Given the description of an element on the screen output the (x, y) to click on. 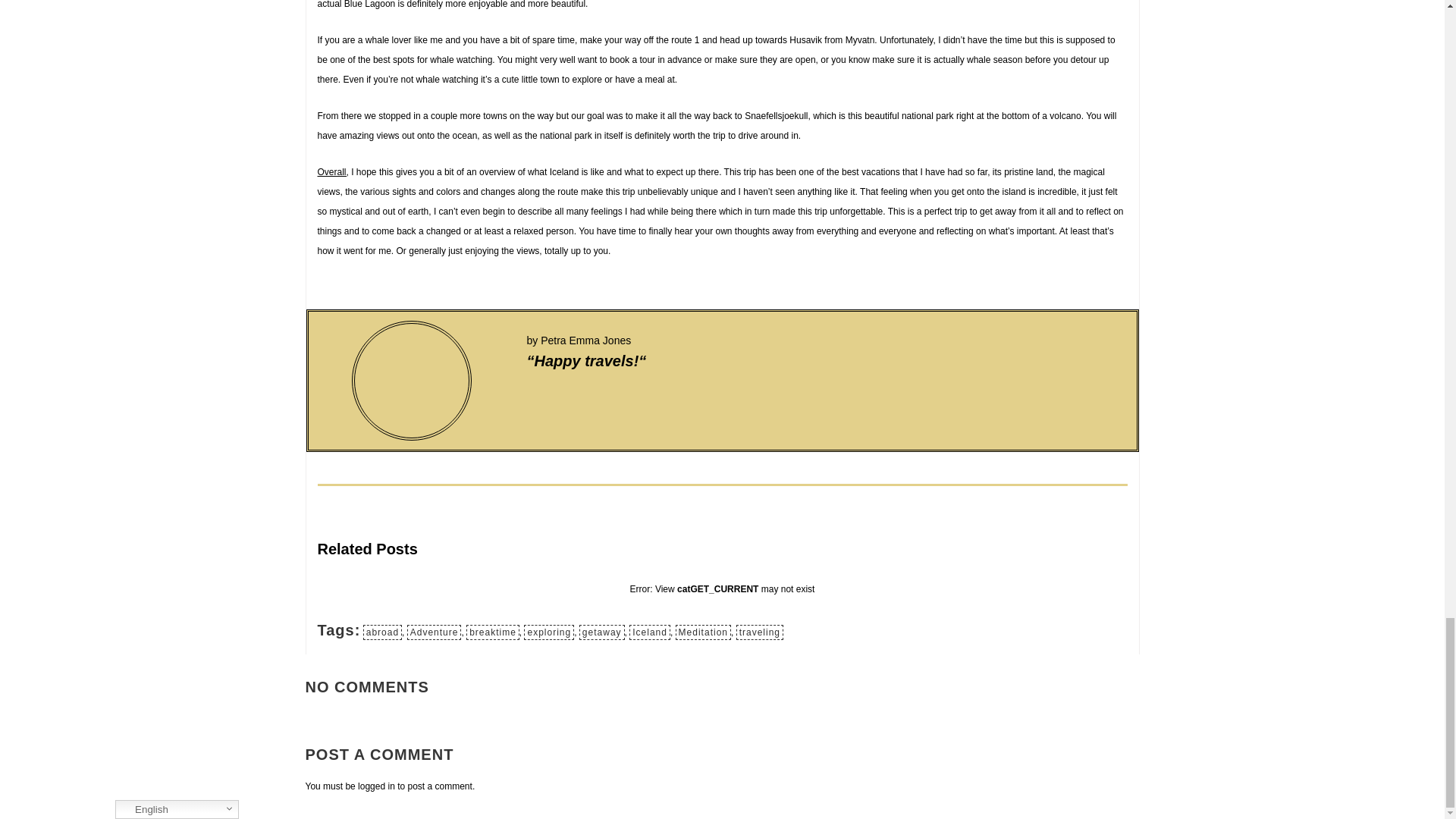
Adventure (434, 631)
abroad (381, 631)
exploring (548, 631)
breaktime (492, 631)
